Given the description of an element on the screen output the (x, y) to click on. 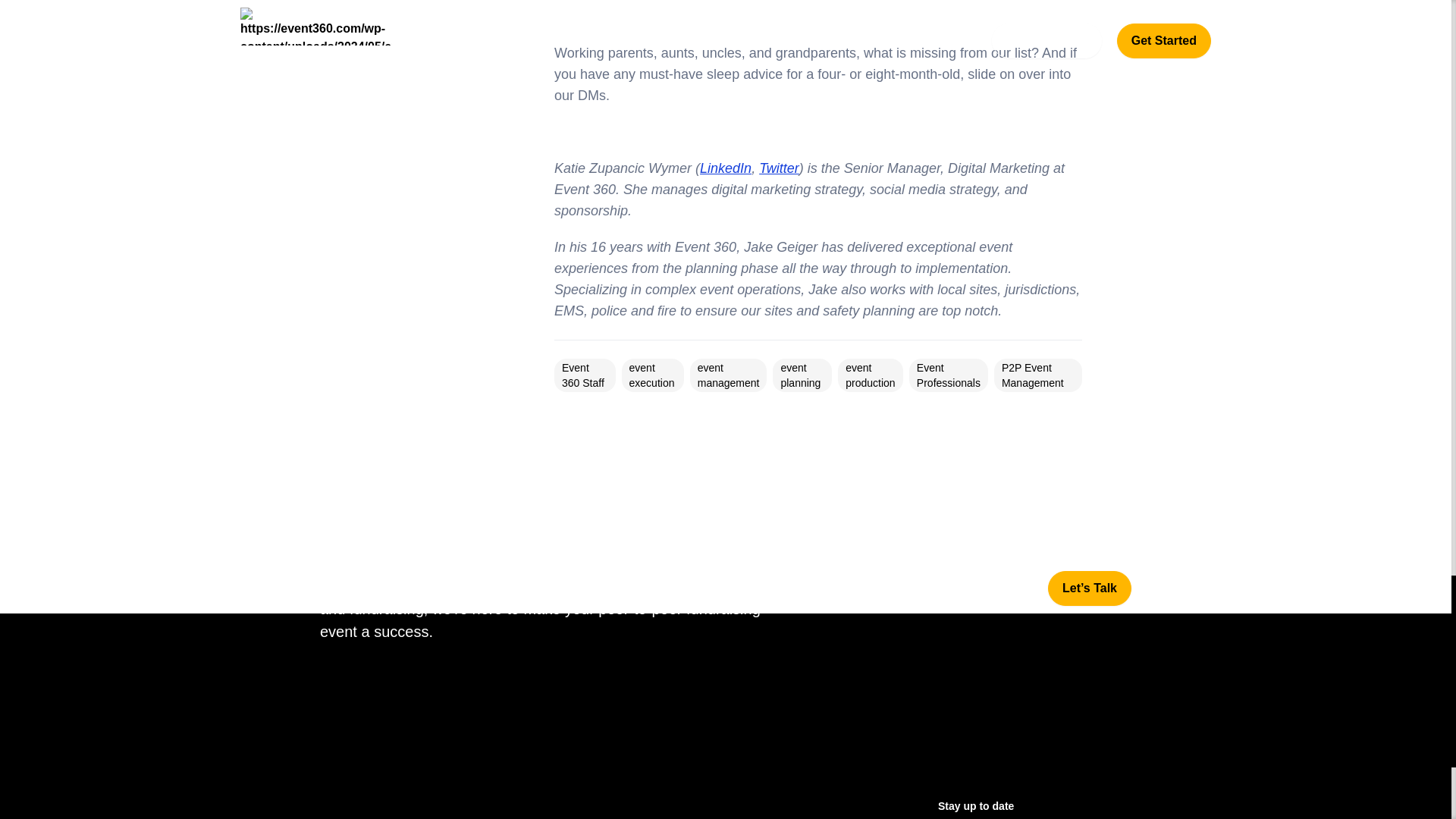
LinkedIn (725, 168)
P2P Event Management (1032, 375)
Twitter (778, 168)
event production (870, 375)
Event Professionals (948, 375)
event planning (800, 375)
event management (728, 375)
event execution (651, 375)
Event 360 Staff (583, 375)
